Given the description of an element on the screen output the (x, y) to click on. 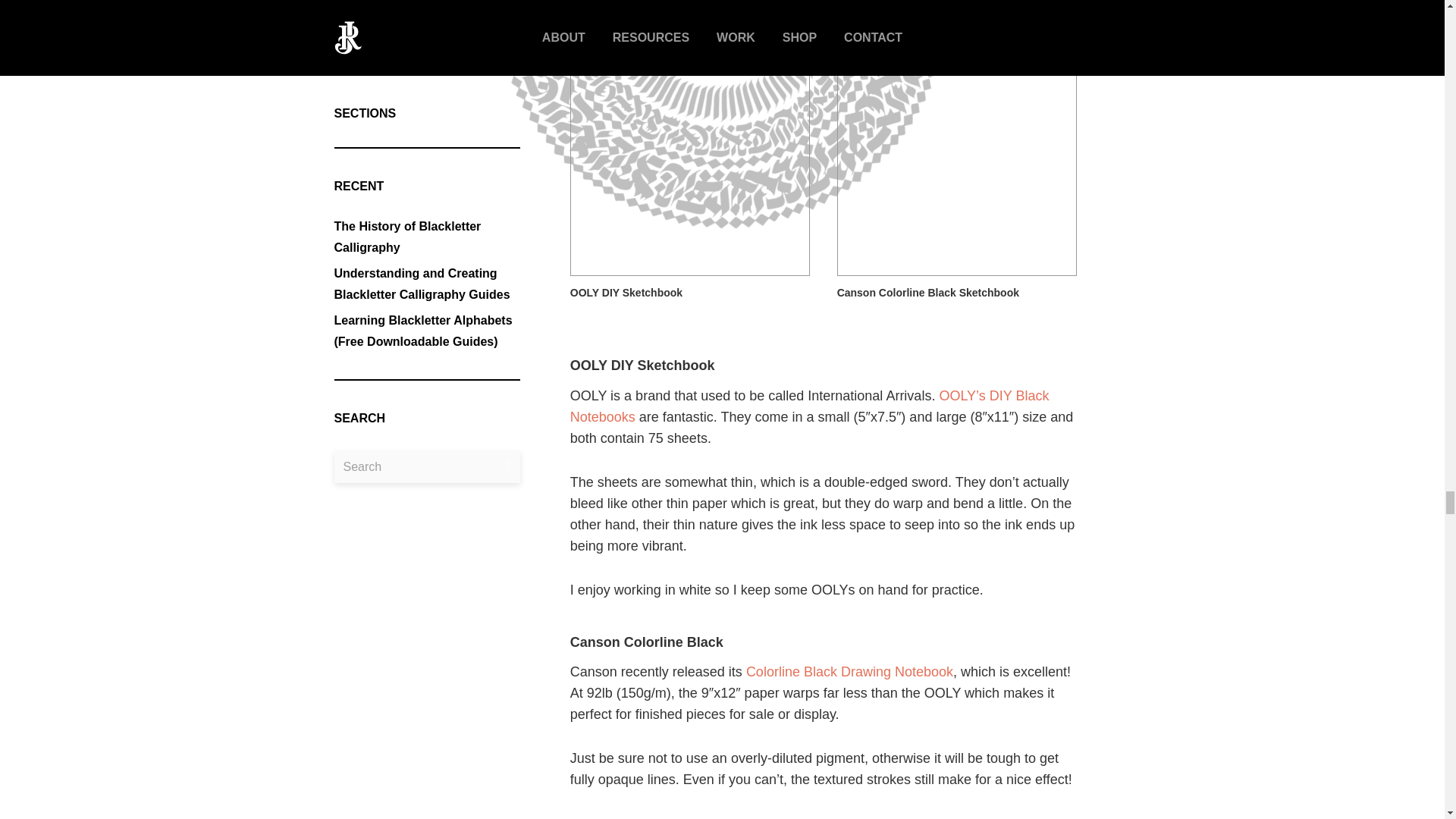
Colorline Black Drawing Notebook (849, 671)
